Given the description of an element on the screen output the (x, y) to click on. 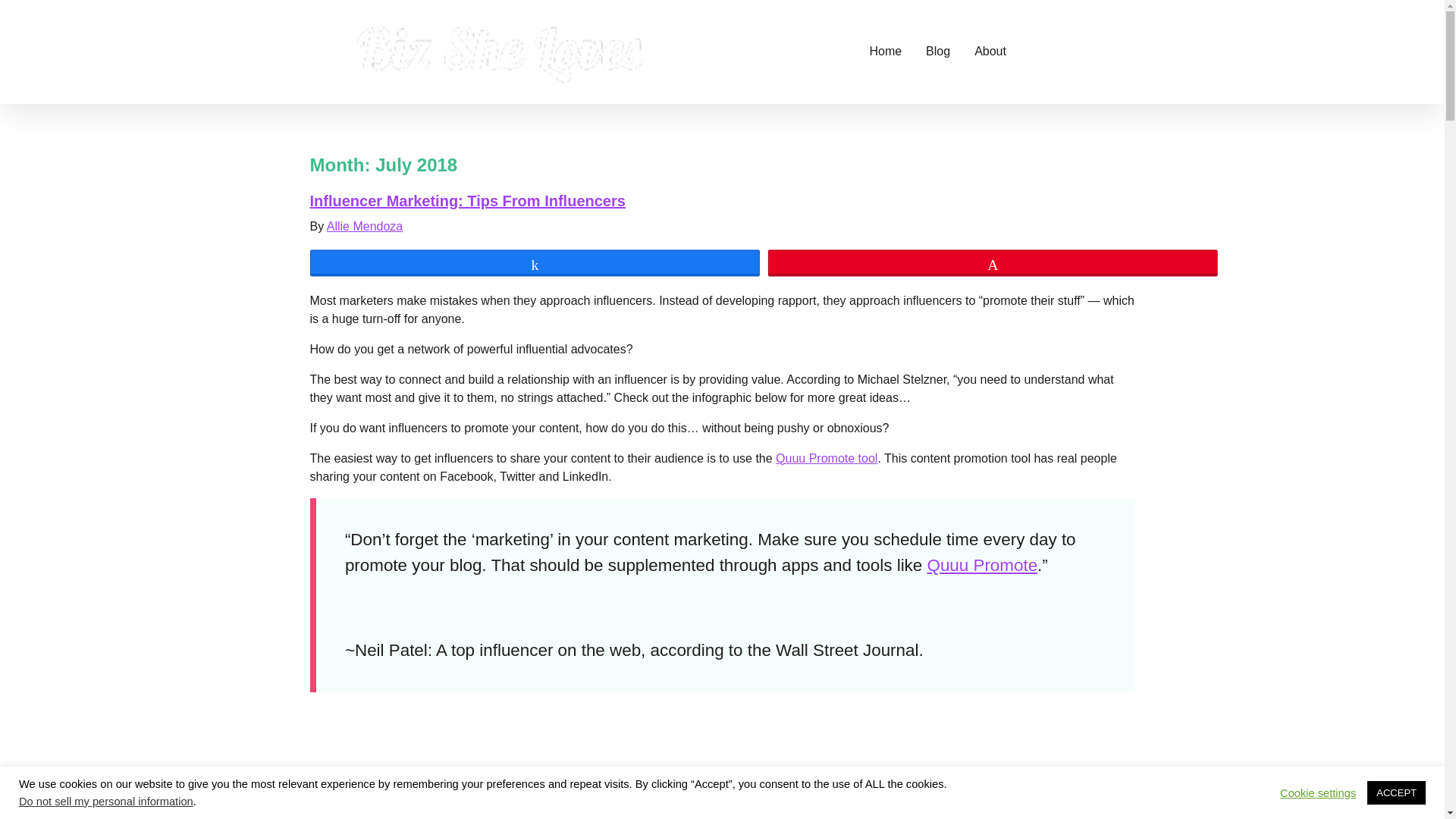
Allie Mendoza (364, 226)
About (989, 51)
Do not sell my personal information (105, 801)
Quuu Promote tool (826, 458)
Quuu Promote (981, 565)
Home (885, 51)
Cookie settings (1317, 792)
Blog (938, 51)
Influencer Marketing: Tips From Influencers (466, 200)
ACCEPT (1396, 792)
